Given the description of an element on the screen output the (x, y) to click on. 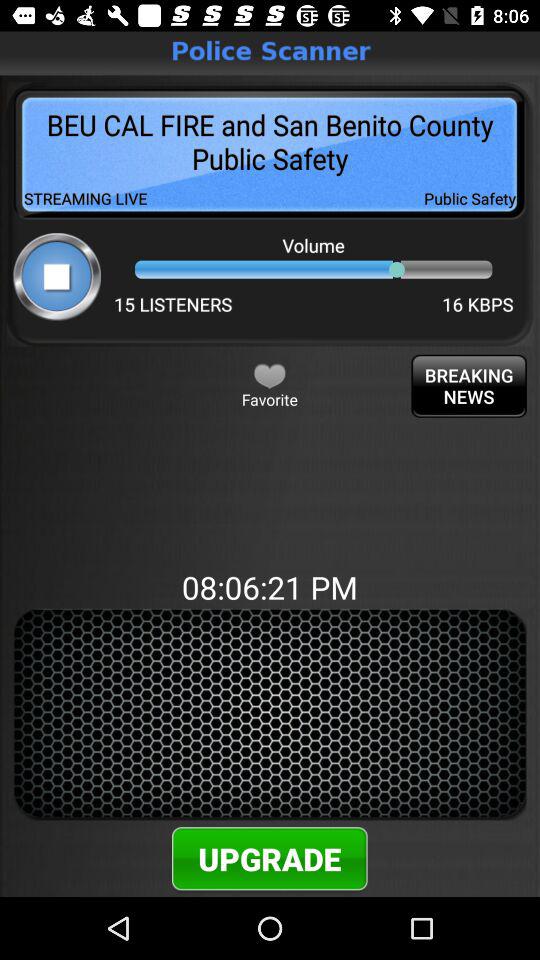
tap the app below 16 kbps (468, 385)
